Given the description of an element on the screen output the (x, y) to click on. 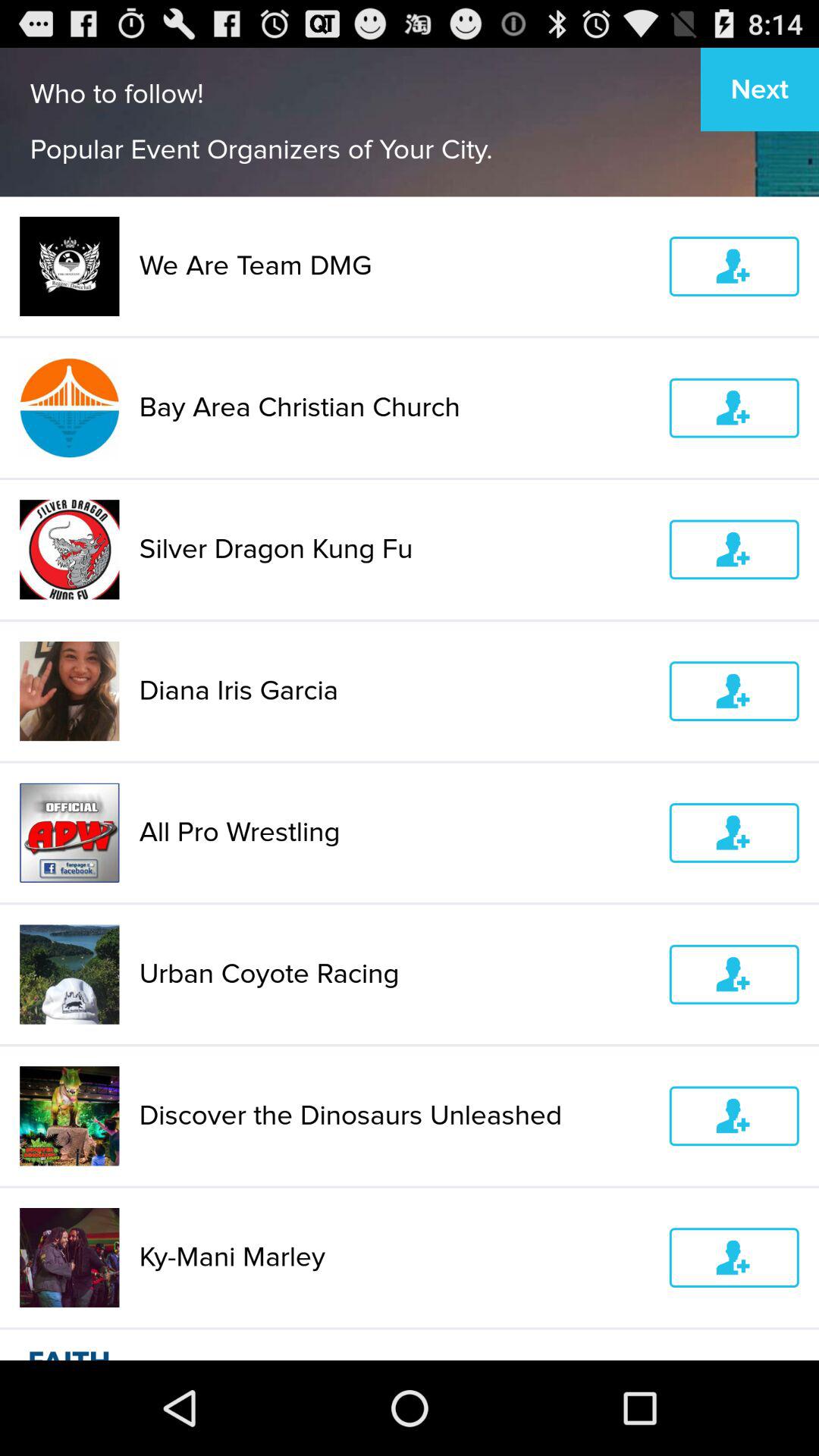
press the app above all pro wrestling icon (394, 690)
